Given the description of an element on the screen output the (x, y) to click on. 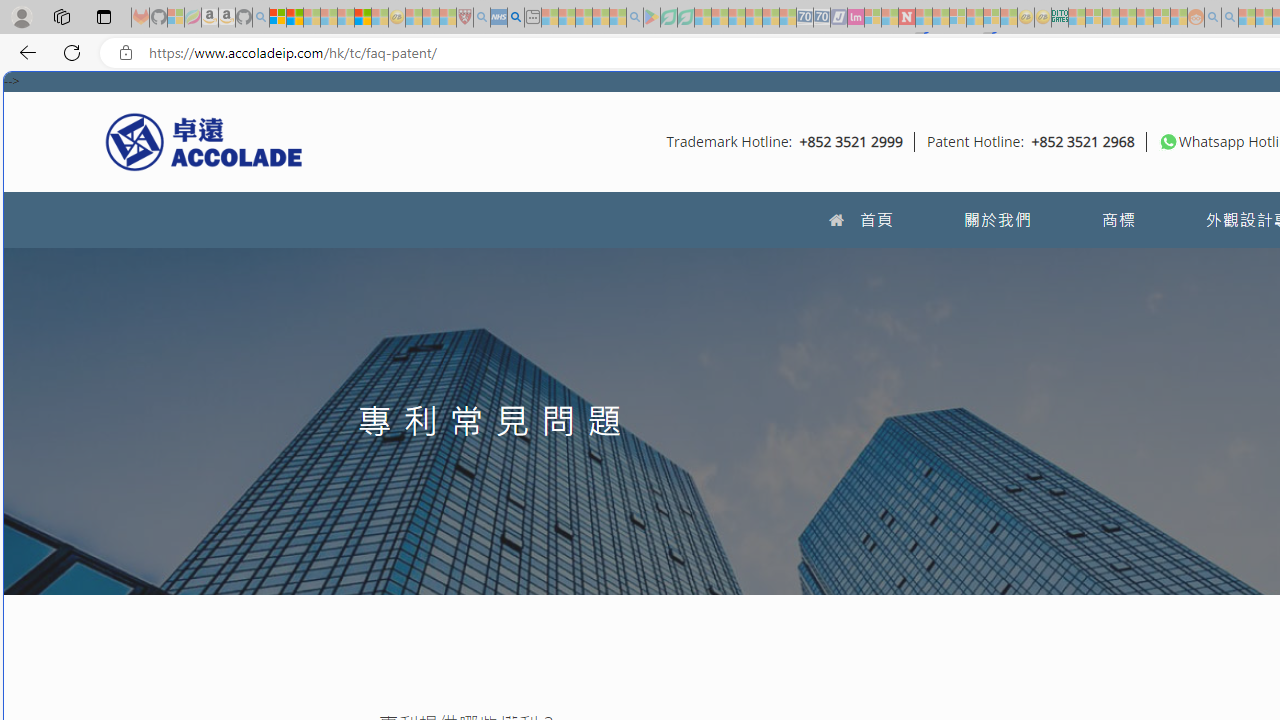
Cheap Car Rentals - Save70.com - Sleeping (804, 17)
DITOGAMES AG Imprint (1059, 17)
The Weather Channel - MSN - Sleeping (311, 17)
Kinda Frugal - MSN - Sleeping (1144, 17)
utah sues federal government - Search (515, 17)
Jobs - lastminute.com Investor Portal - Sleeping (855, 17)
Microsoft account | Privacy (277, 17)
